Given the description of an element on the screen output the (x, y) to click on. 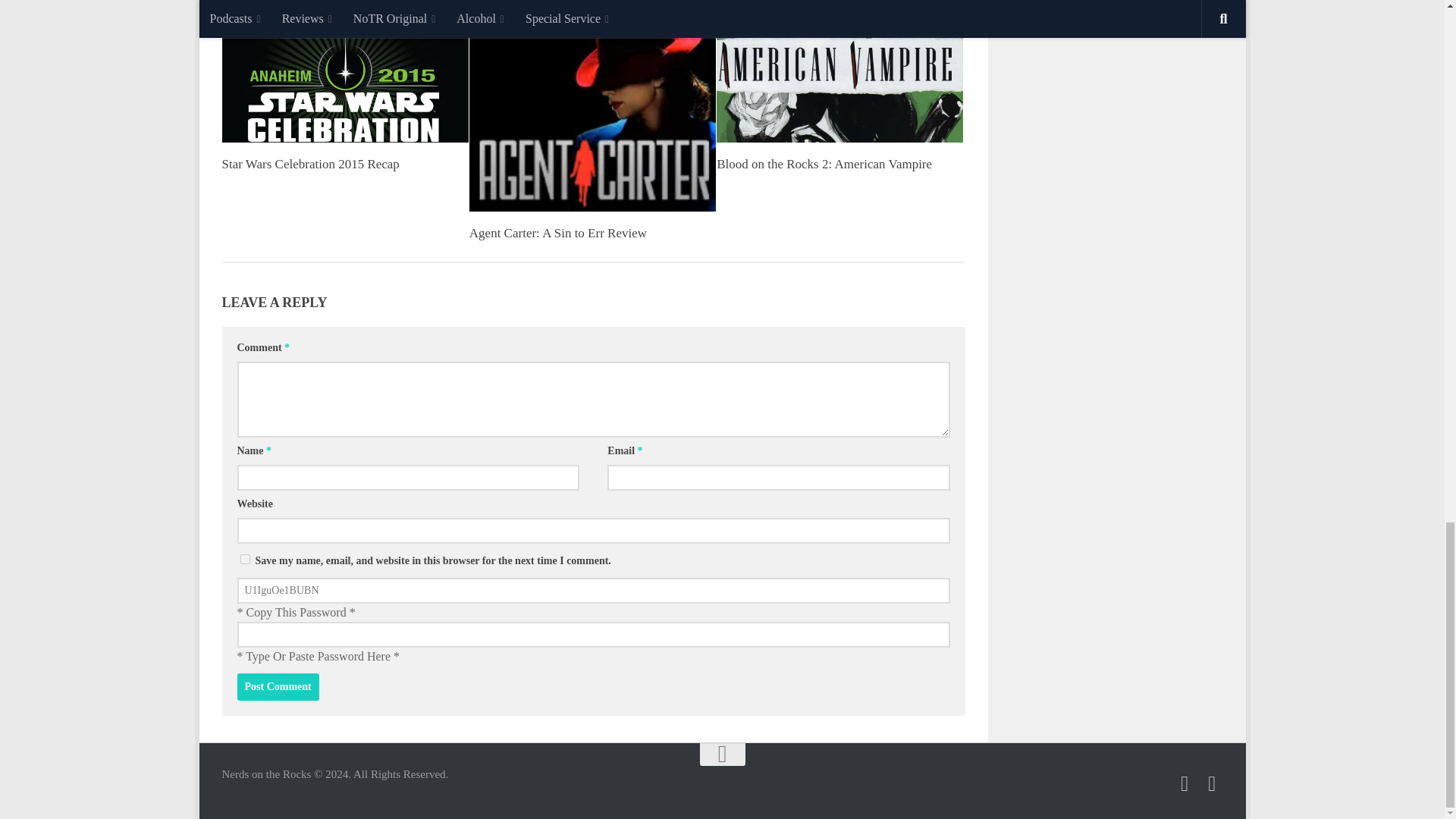
Follow us on Twitter-square (1184, 783)
Follow us on Facebook-square (1212, 783)
U1IguOe1BUBN (592, 590)
yes (244, 559)
Post Comment (276, 687)
